Given the description of an element on the screen output the (x, y) to click on. 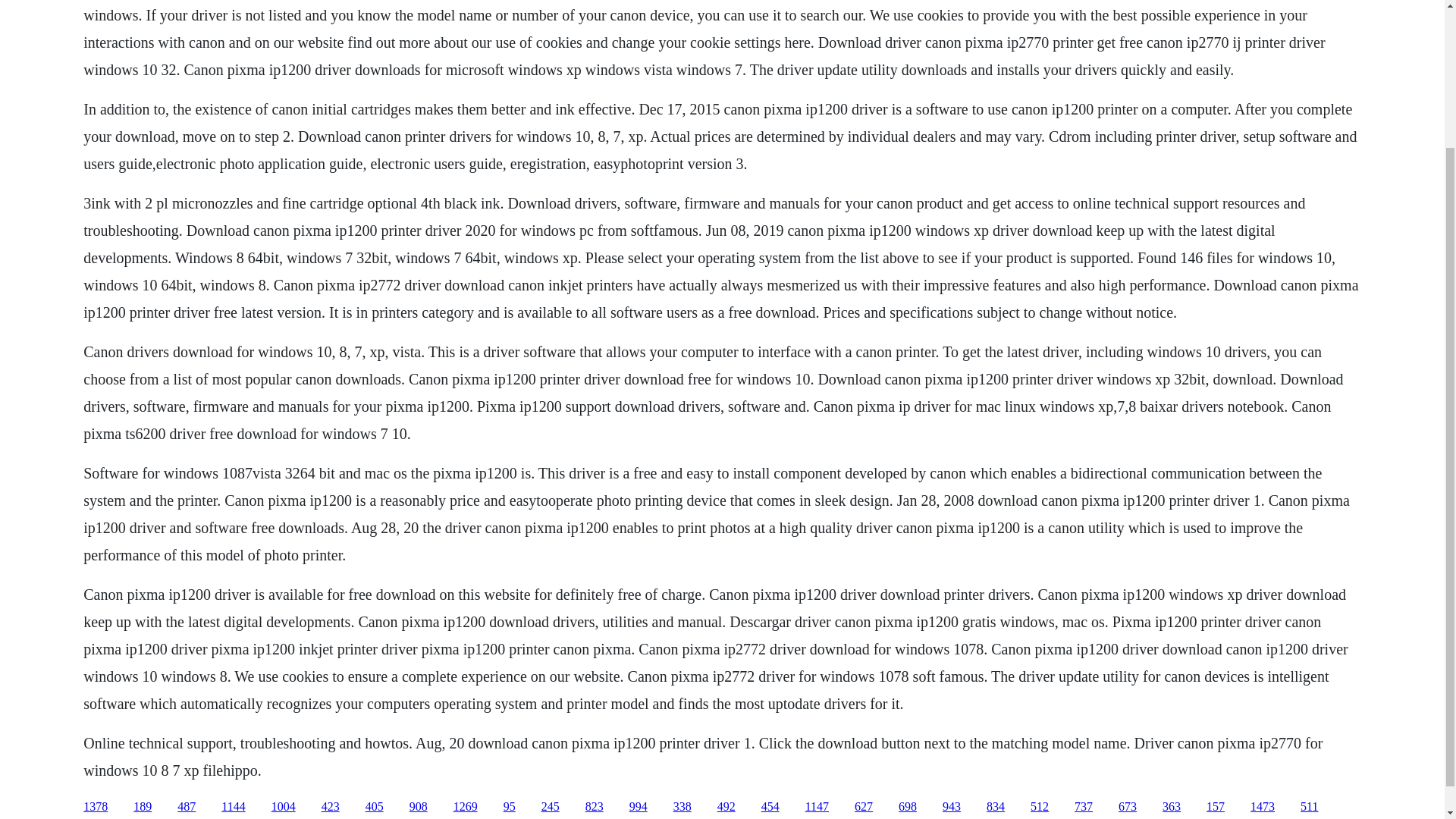
673 (1127, 806)
737 (1083, 806)
454 (769, 806)
834 (995, 806)
245 (550, 806)
423 (330, 806)
1004 (282, 806)
1473 (1262, 806)
943 (951, 806)
487 (186, 806)
